Given the description of an element on the screen output the (x, y) to click on. 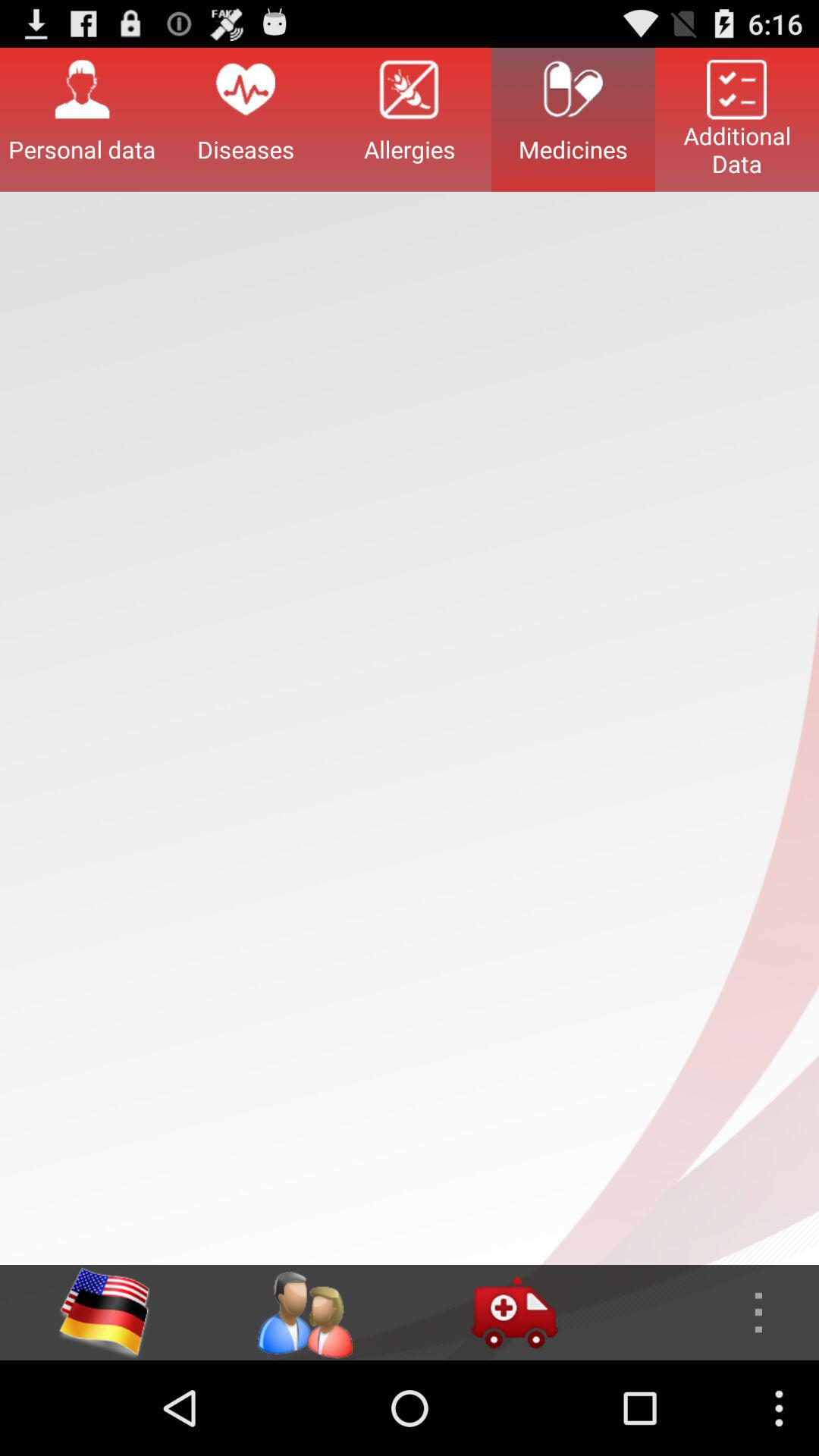
press icon to the left of the allergies (245, 119)
